Given the description of an element on the screen output the (x, y) to click on. 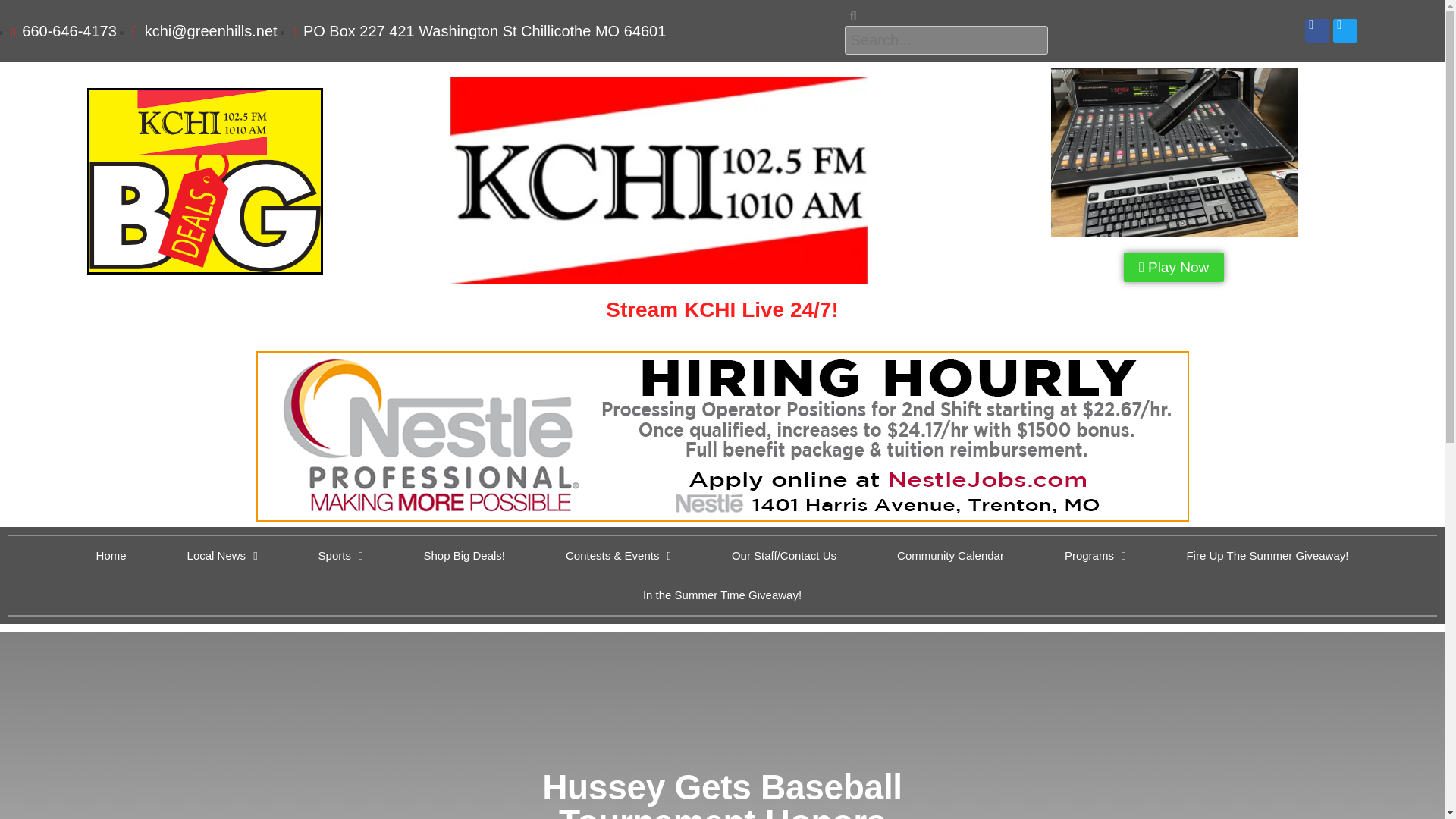
Shop Big Deals! (464, 555)
In the Summer Time Giveaway! (721, 595)
Local News (222, 555)
Home (111, 555)
Programs (1094, 555)
Fire Up The Summer Giveaway! (1267, 555)
Play Now (1174, 266)
Sports (340, 555)
Community Calendar (949, 555)
